Given the description of an element on the screen output the (x, y) to click on. 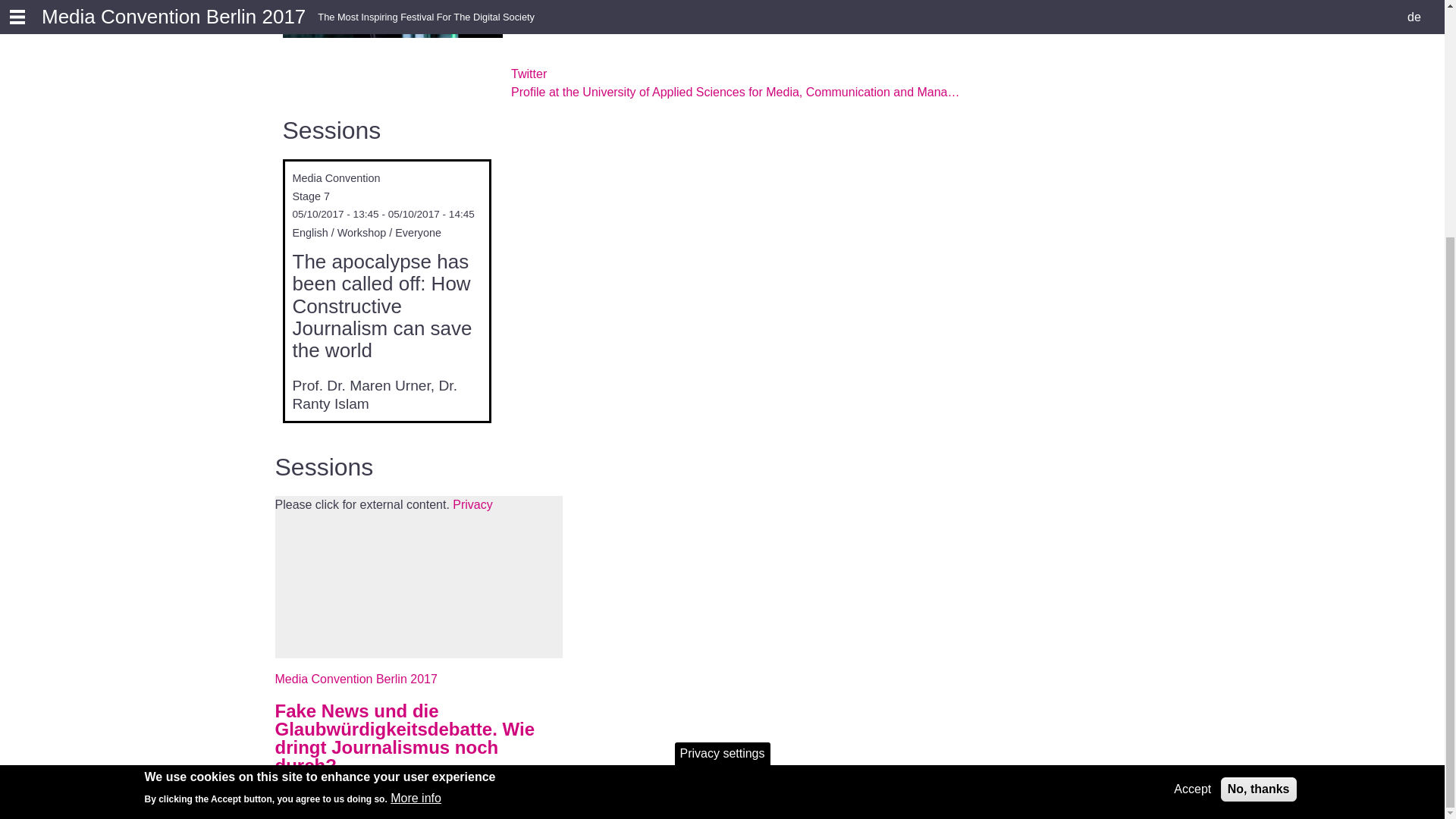
Twitter (529, 73)
Privacy settings (721, 428)
Prof. Dr. Maren Urner (361, 384)
Stage 7 (311, 196)
Media Convention (336, 177)
More info (415, 474)
Dr. Ranty Islam (375, 394)
Accept (1192, 465)
Privacy (472, 504)
